Given the description of an element on the screen output the (x, y) to click on. 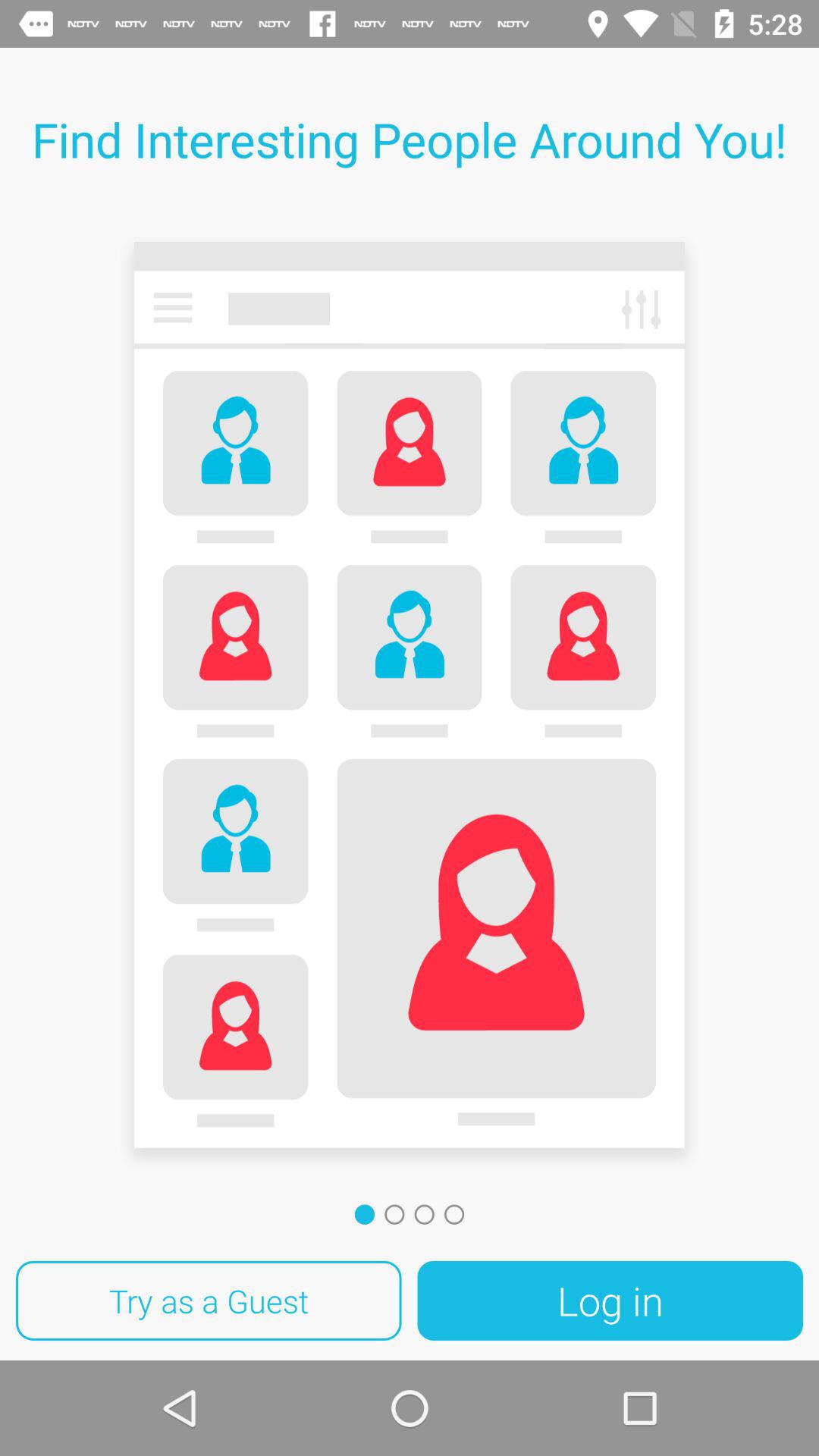
press log in icon (610, 1300)
